Given the description of an element on the screen output the (x, y) to click on. 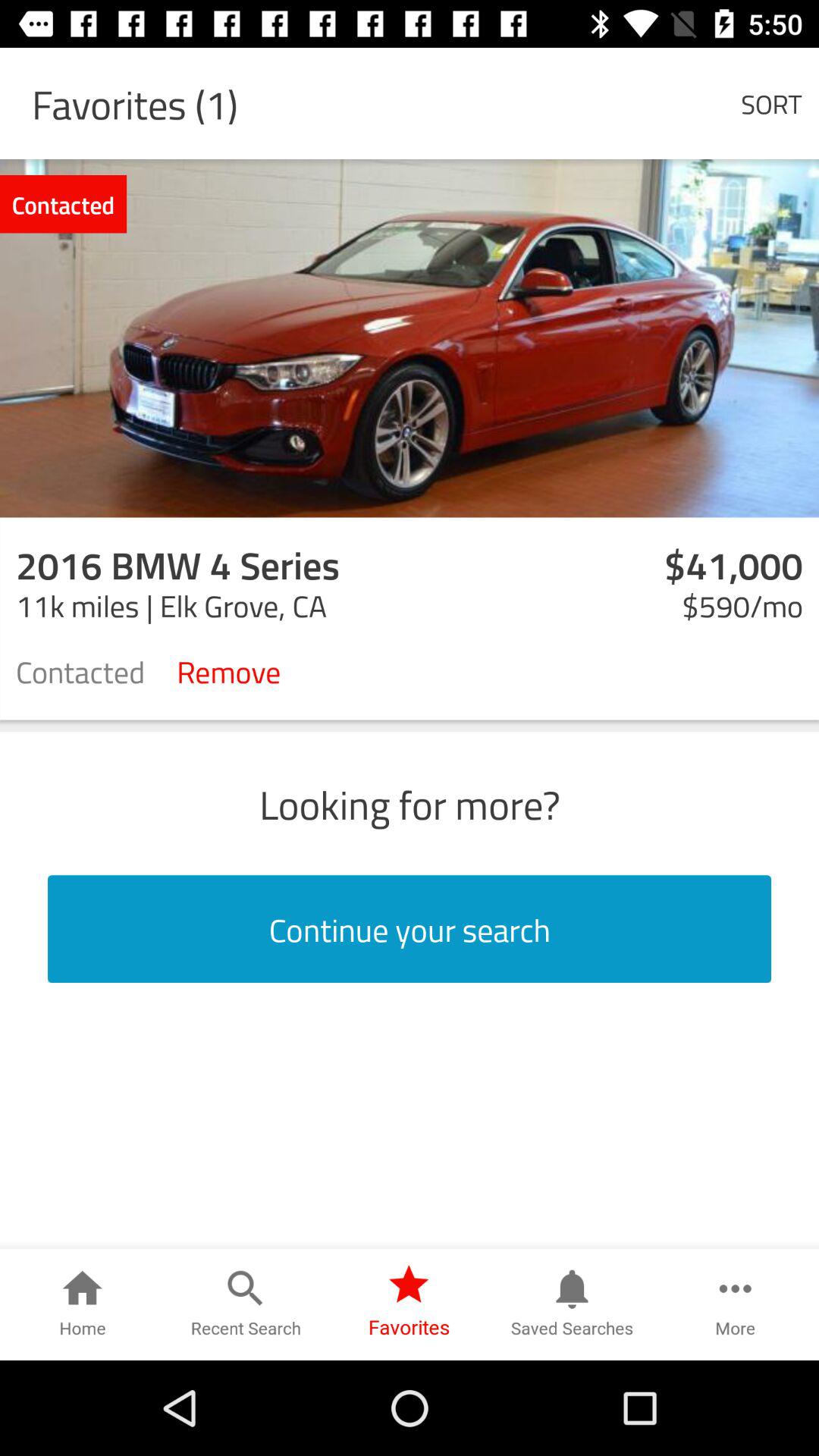
click the text sort (771, 103)
